Given the description of an element on the screen output the (x, y) to click on. 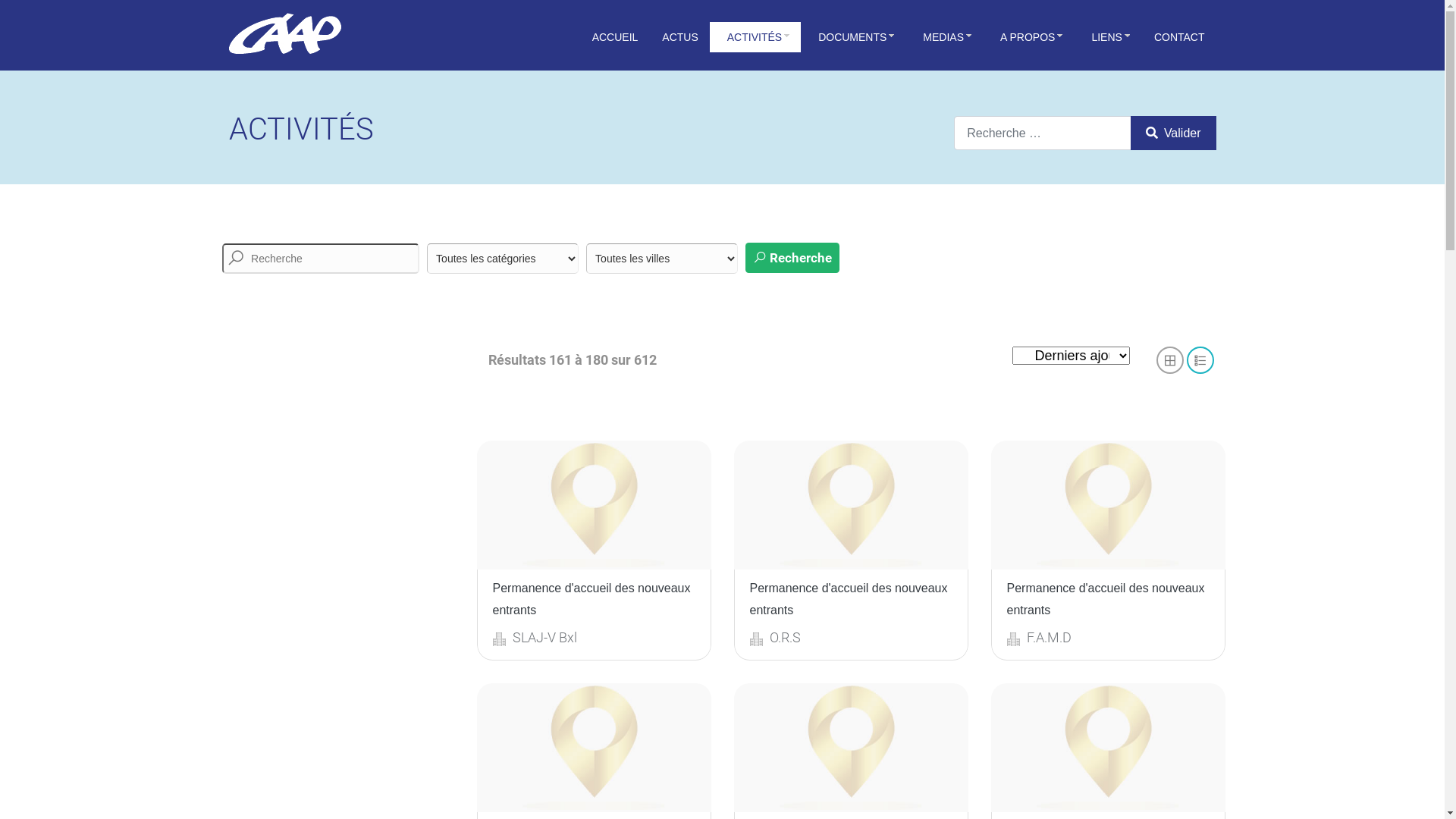
Valider Element type: text (1172, 133)
A PROPOS Element type: text (1027, 36)
ACCUEIL Element type: text (614, 36)
Permanence d'accueil des nouveaux entrants Element type: text (1105, 598)
Recherche Element type: text (792, 257)
Permanence d'accueil des nouveaux entrants Element type: text (591, 598)
CAAP Element type: text (285, 32)
Permanence d'accueil des nouveaux entrants Element type: text (848, 598)
MEDIAS Element type: text (943, 36)
ACTUS Element type: text (679, 36)
LIENS Element type: text (1106, 36)
CONTACT Element type: text (1178, 36)
DOCUMENTS Element type: text (852, 36)
